Given the description of an element on the screen output the (x, y) to click on. 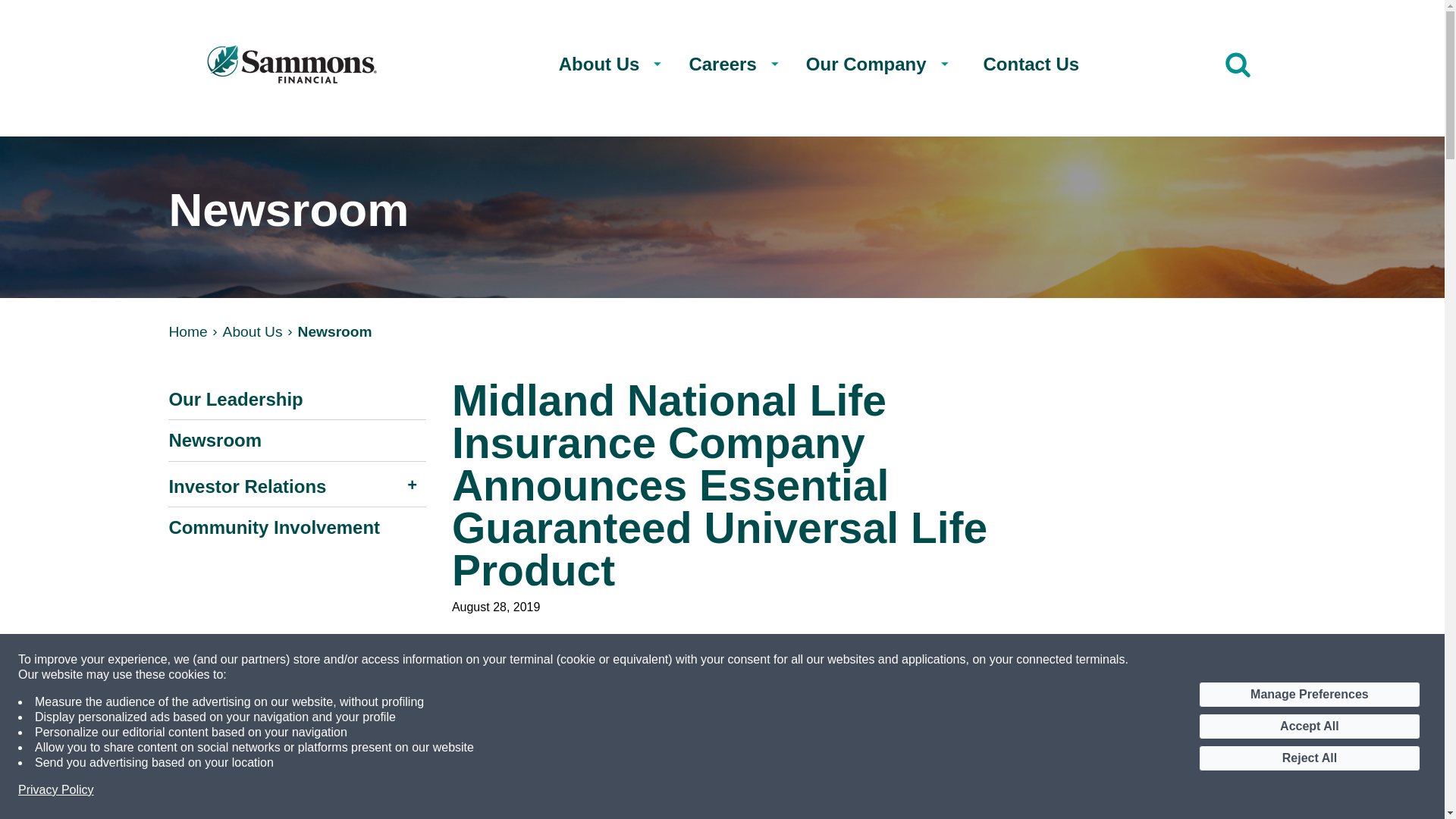
Accept All (1309, 726)
Home (187, 331)
Reject All (1309, 758)
Privacy Policy (55, 789)
About Us (252, 331)
Our Company (871, 63)
About Us (604, 63)
Contact Us (1030, 63)
Manage Preferences (1309, 694)
Careers (726, 63)
